Given the description of an element on the screen output the (x, y) to click on. 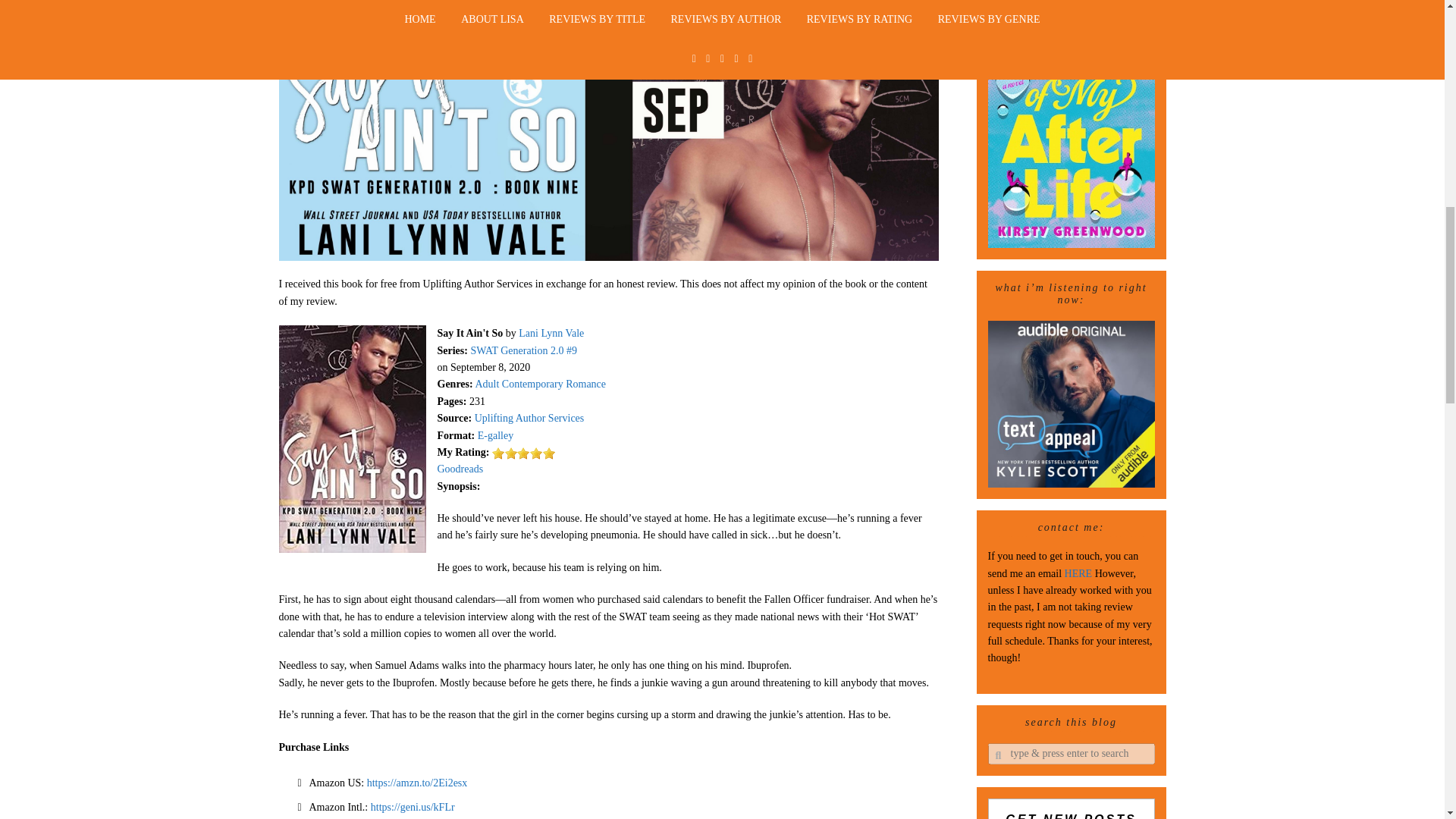
Adult Contemporary Romance (539, 383)
Goodreads (459, 469)
Lani Lynn Vale (550, 333)
View all posts in Blog Tour (609, 3)
LISA MANDINA (510, 3)
BLOG TOUR (609, 3)
REVIEW (675, 3)
Uplifting Author Services (529, 418)
View all posts in Review (675, 3)
0 COMMENTS (750, 3)
